Given the description of an element on the screen output the (x, y) to click on. 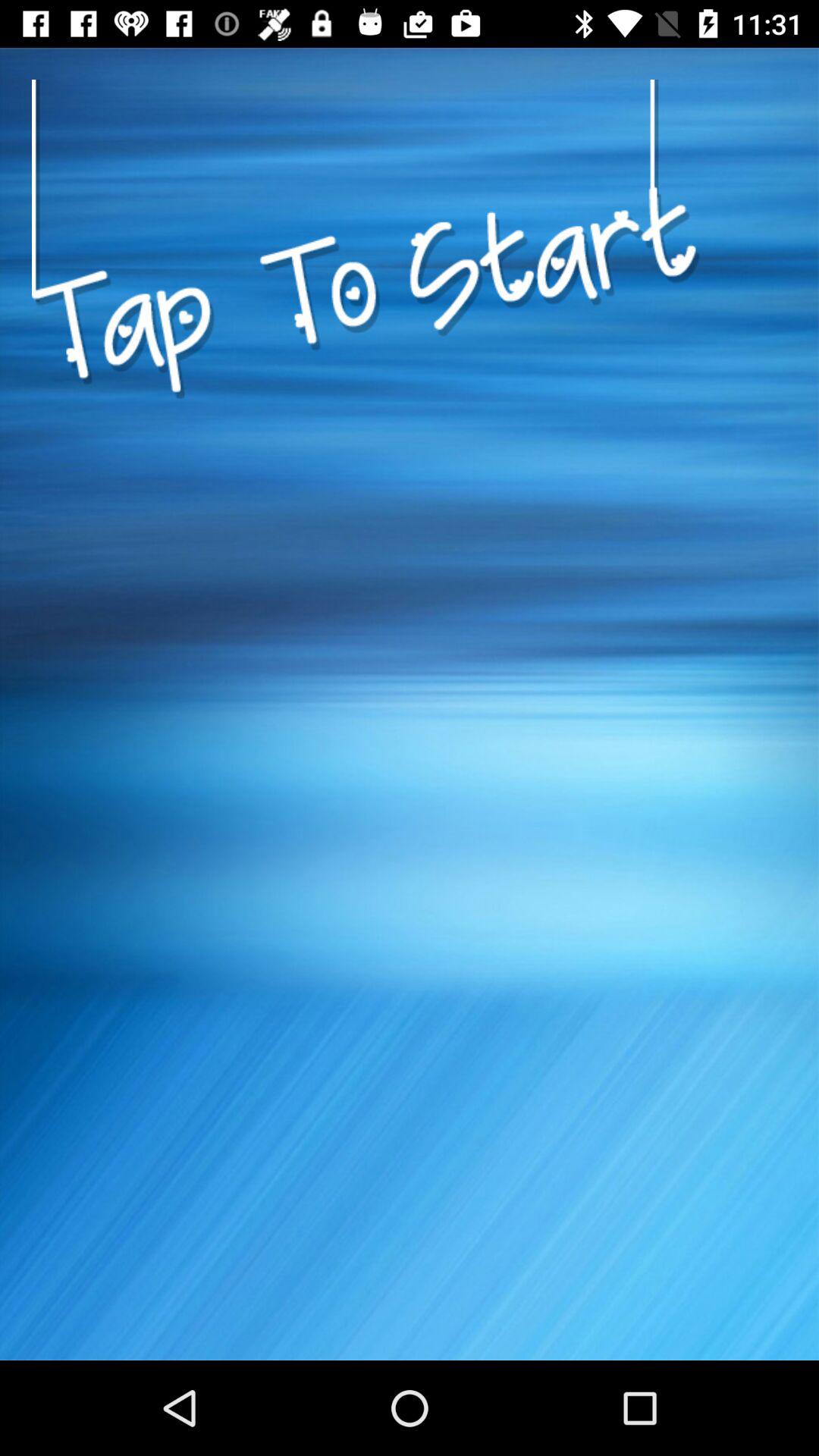
tap to start (365, 465)
